Given the description of an element on the screen output the (x, y) to click on. 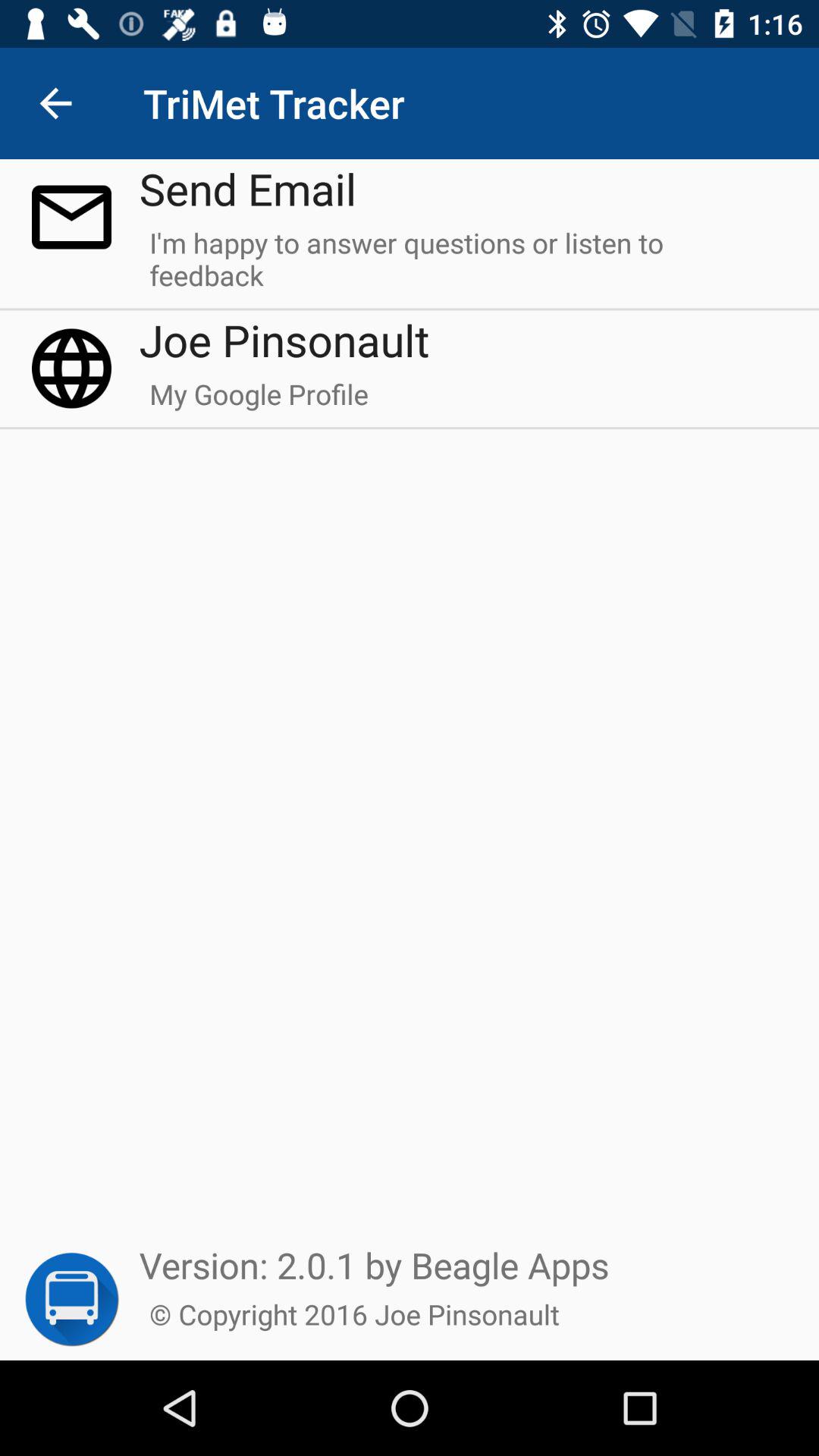
jump until the my google profile (258, 401)
